Given the description of an element on the screen output the (x, y) to click on. 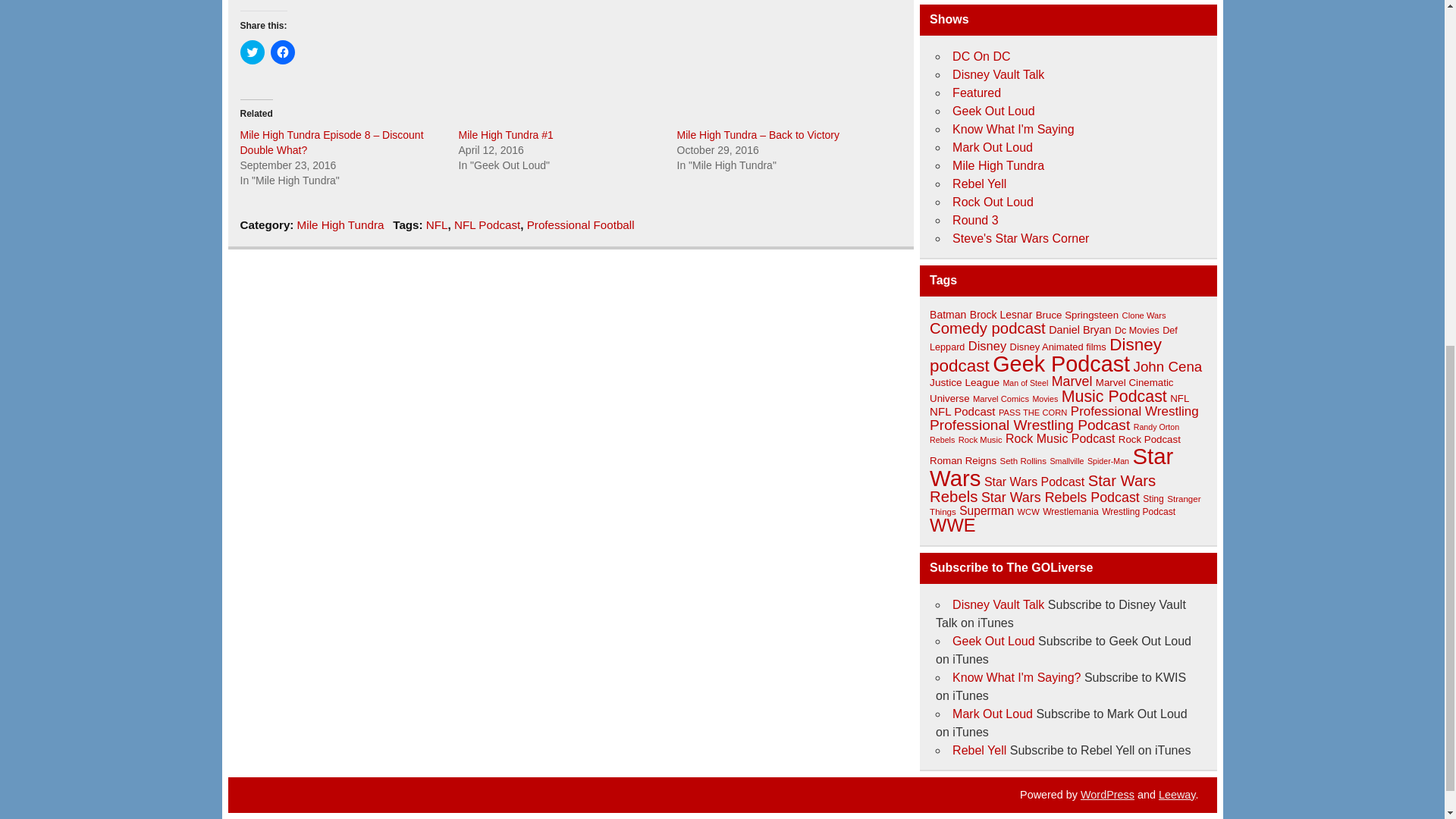
Click to share on Twitter (251, 52)
NFL (437, 224)
Subscribe to KWIS on iTunes (1016, 676)
Click to share on Facebook (281, 52)
Subscribe to Disney Vault Talk on iTunes (997, 604)
Subscribe to Mark Out Loud on iTunes (992, 713)
DC On DC (981, 56)
NFL Podcast (486, 224)
Mark Out Loud (992, 146)
Disney Vault Talk (997, 74)
